Given the description of an element on the screen output the (x, y) to click on. 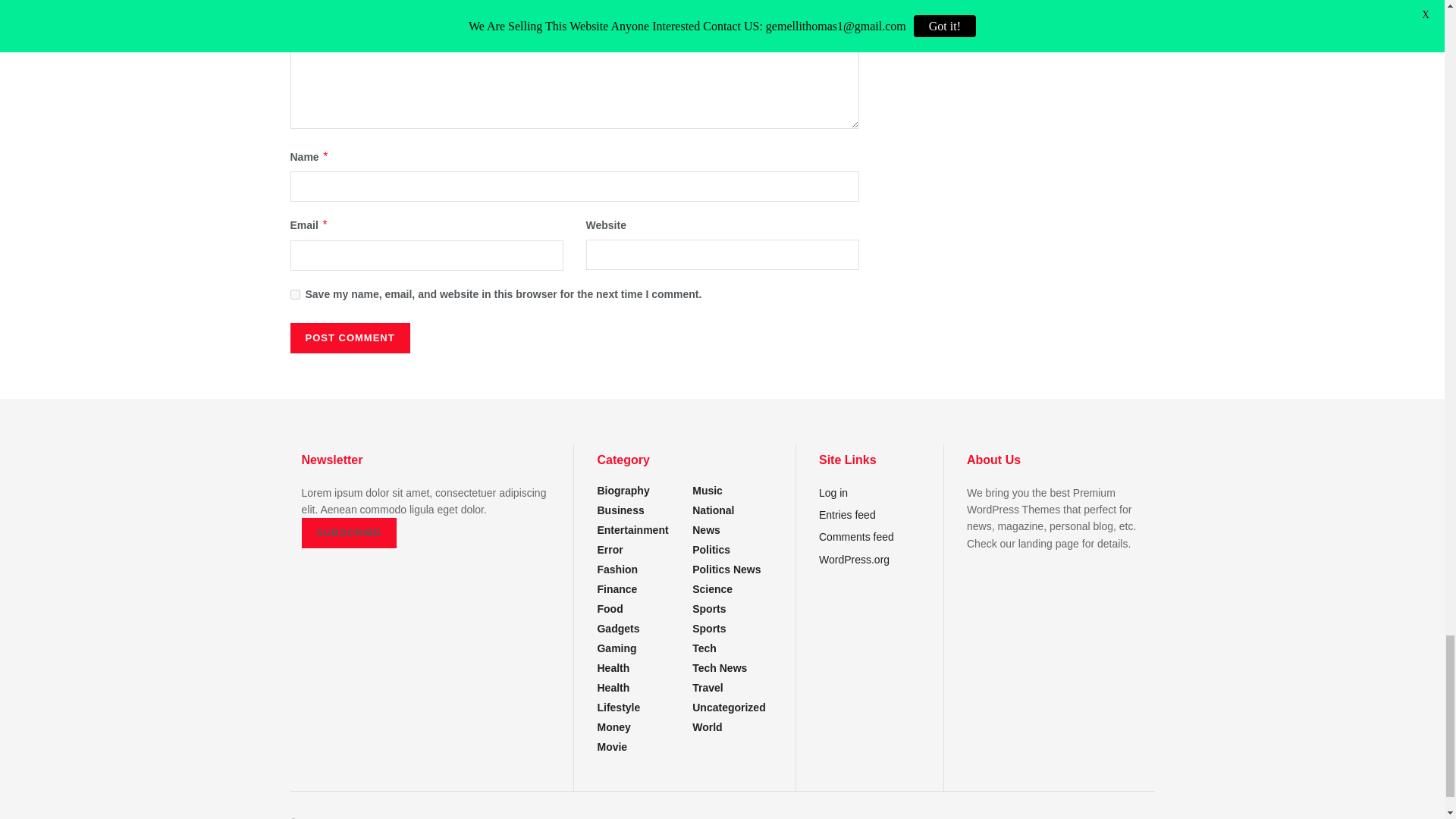
yes (294, 294)
Post Comment (349, 337)
